Given the description of an element on the screen output the (x, y) to click on. 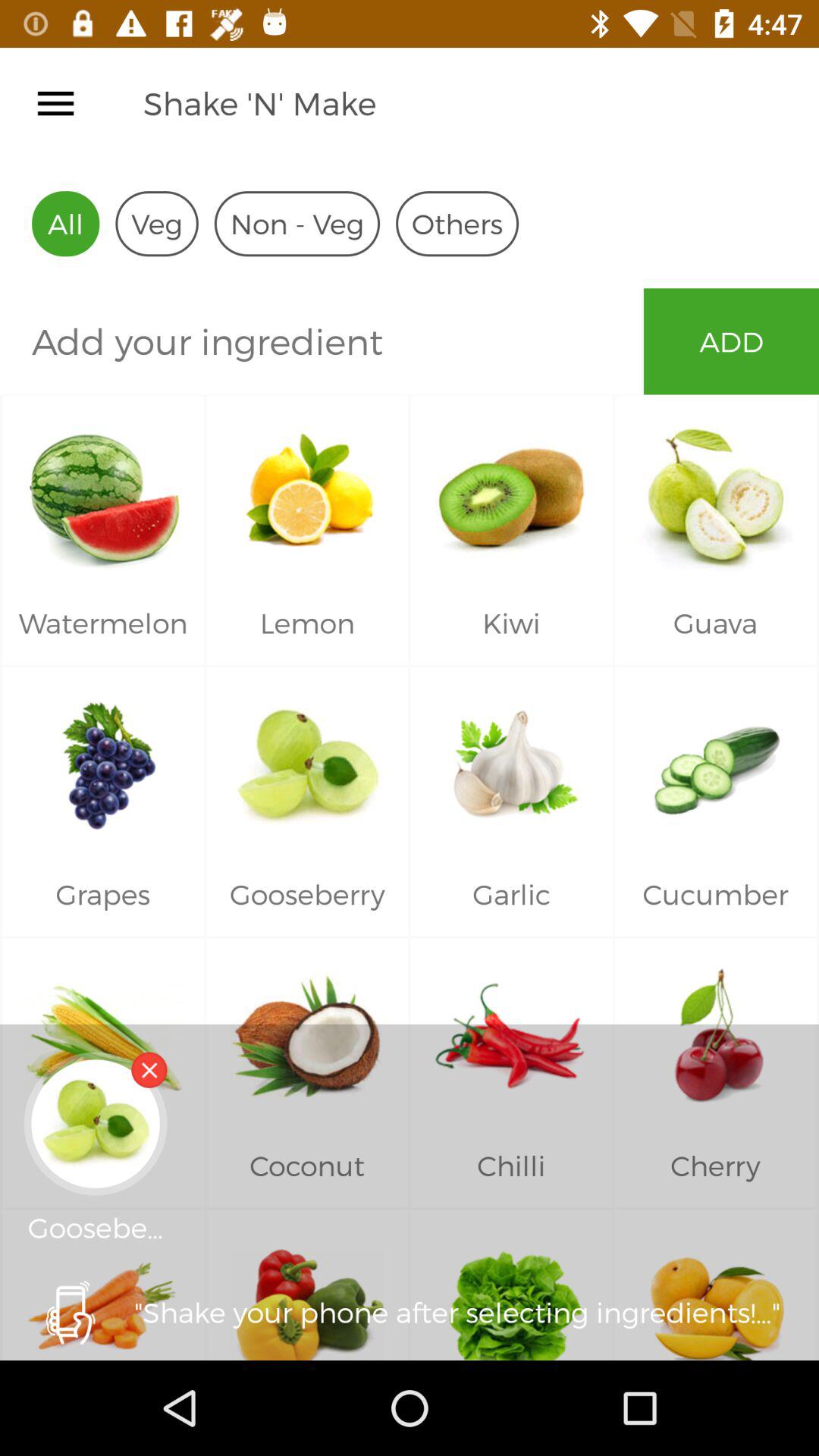
choose icon next to add (321, 341)
